Given the description of an element on the screen output the (x, y) to click on. 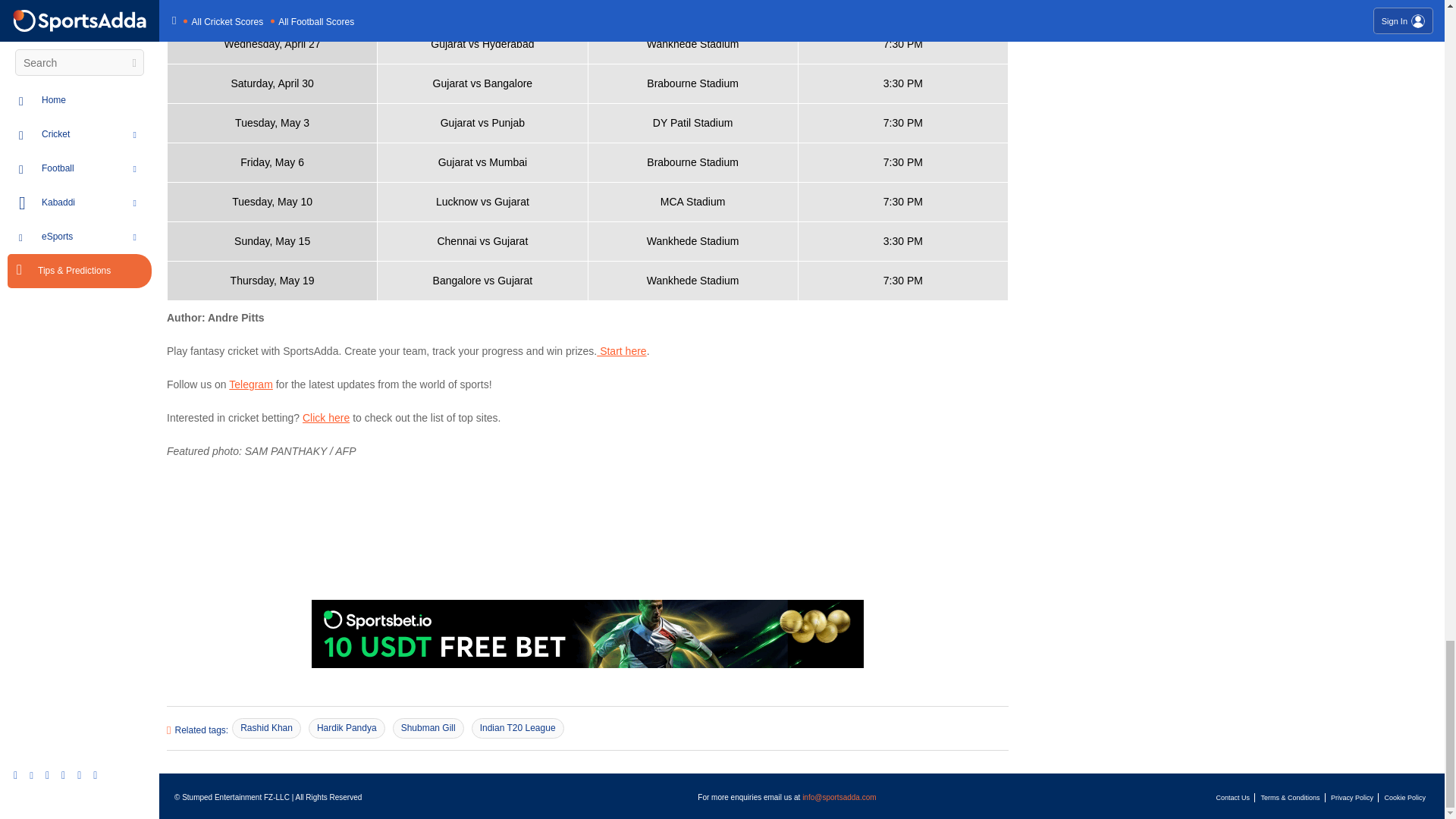
Hardik Pandya (346, 728)
Cookie Policy (1404, 797)
Contact Us (1232, 797)
Indian T20 League (517, 728)
Rashid Khan (266, 728)
Shubman Gill (428, 728)
Privacy Policy (1351, 797)
